Given the description of an element on the screen output the (x, y) to click on. 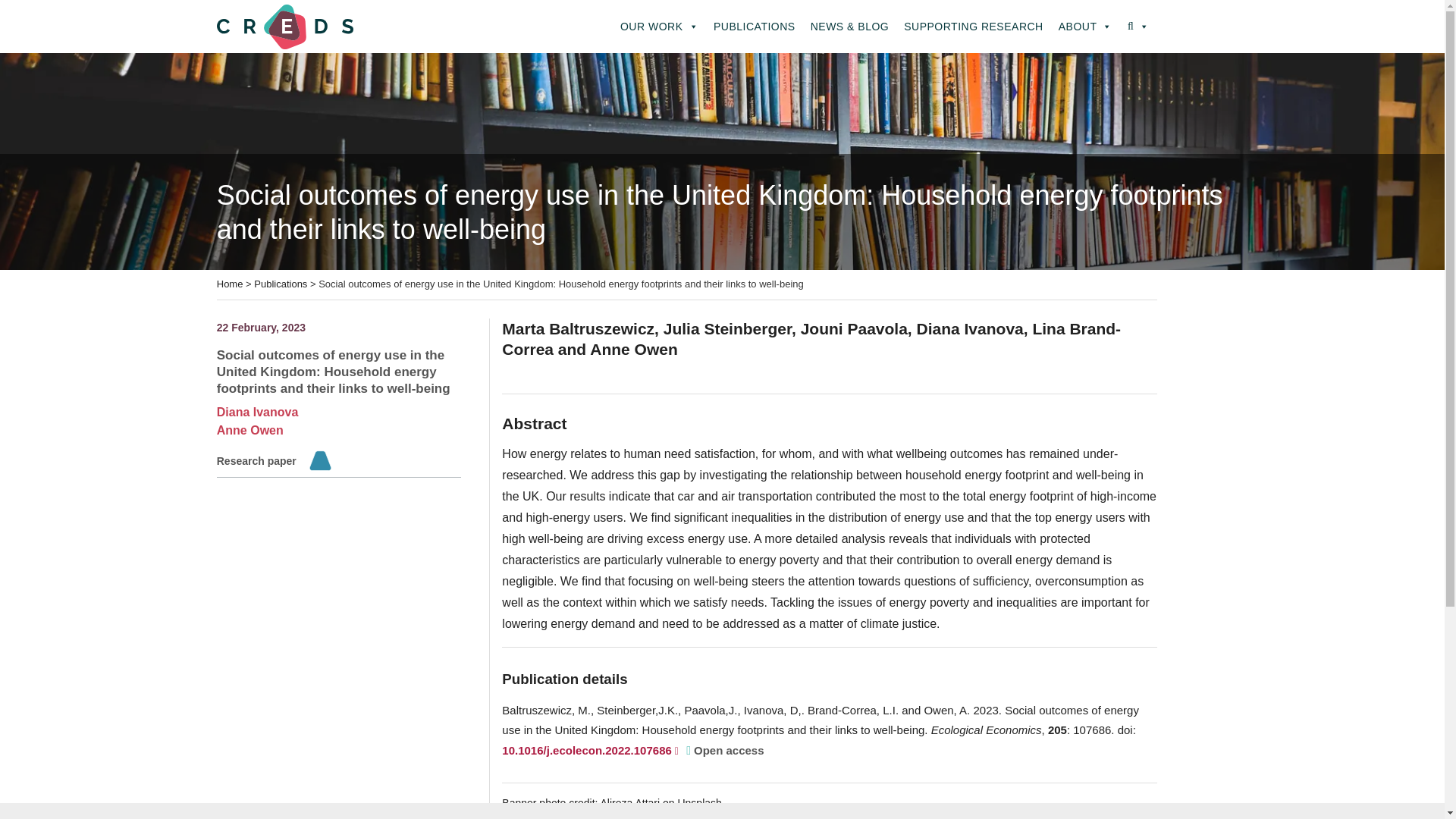
PUBLICATIONS (754, 26)
Diana Ivanova (257, 411)
ABOUT (1085, 26)
SUPPORTING RESEARCH (973, 26)
Publications (280, 283)
CREDS home page (284, 25)
OUR WORK (659, 26)
Home (229, 283)
Anne Owen (249, 430)
